Given the description of an element on the screen output the (x, y) to click on. 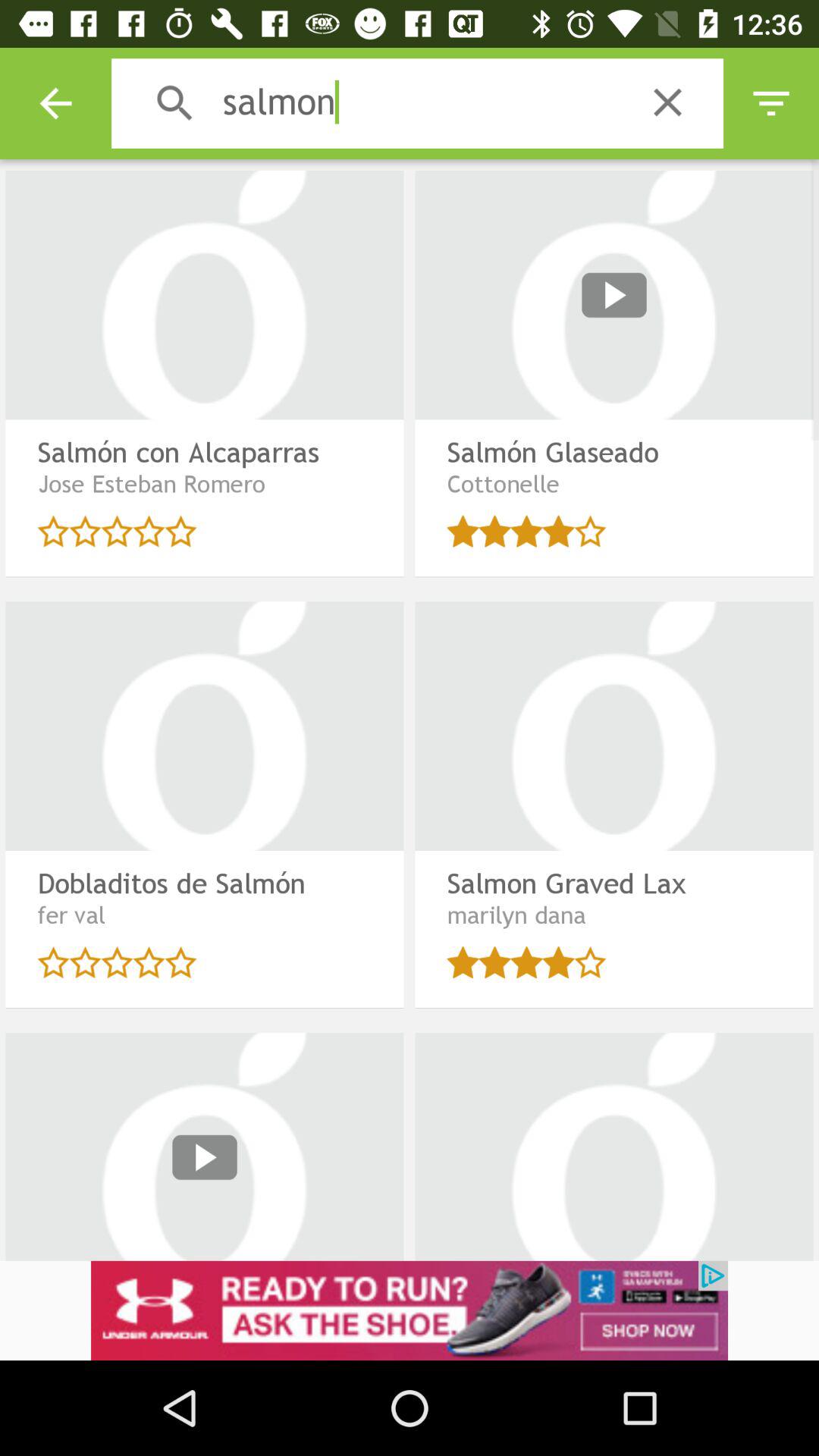
share the article (409, 1310)
